Given the description of an element on the screen output the (x, y) to click on. 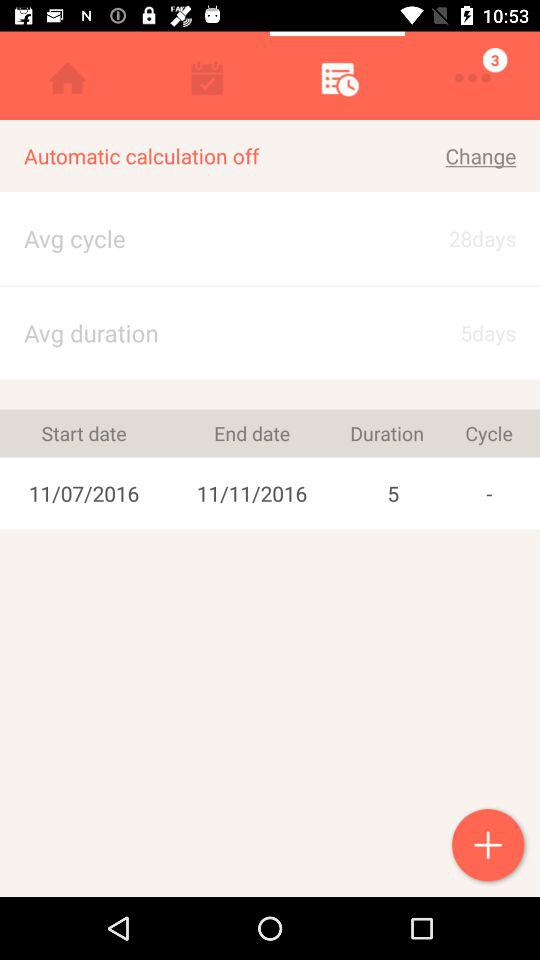
select app above avg duration icon (270, 285)
